Given the description of an element on the screen output the (x, y) to click on. 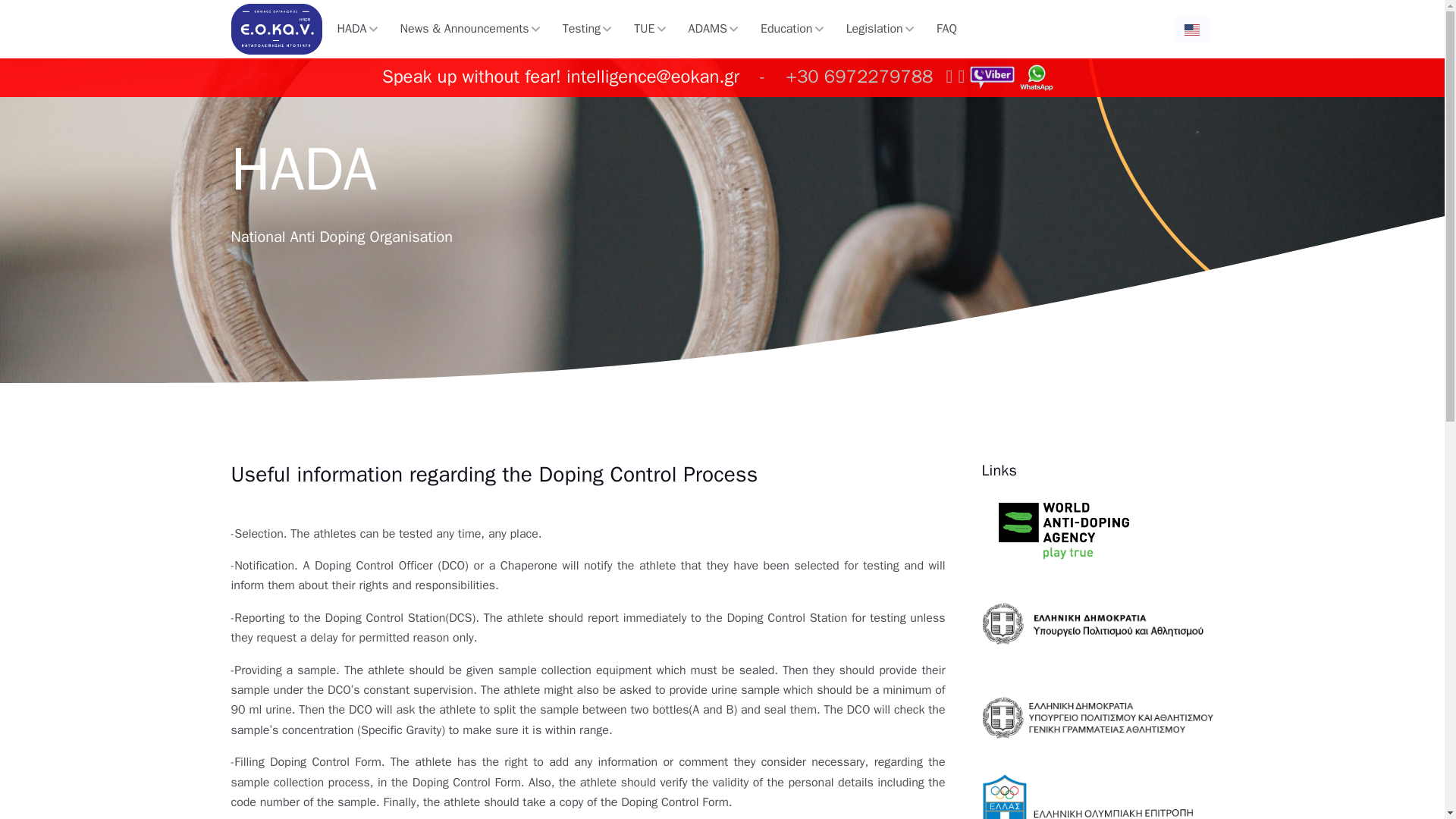
Education (791, 28)
HELLENIC OLYMPIC COMMITTEE (1088, 796)
Testing (587, 28)
Ministry of Culture and Sports (1098, 623)
ADAMS (713, 28)
WADA (1062, 530)
HADA (357, 28)
